Given the description of an element on the screen output the (x, y) to click on. 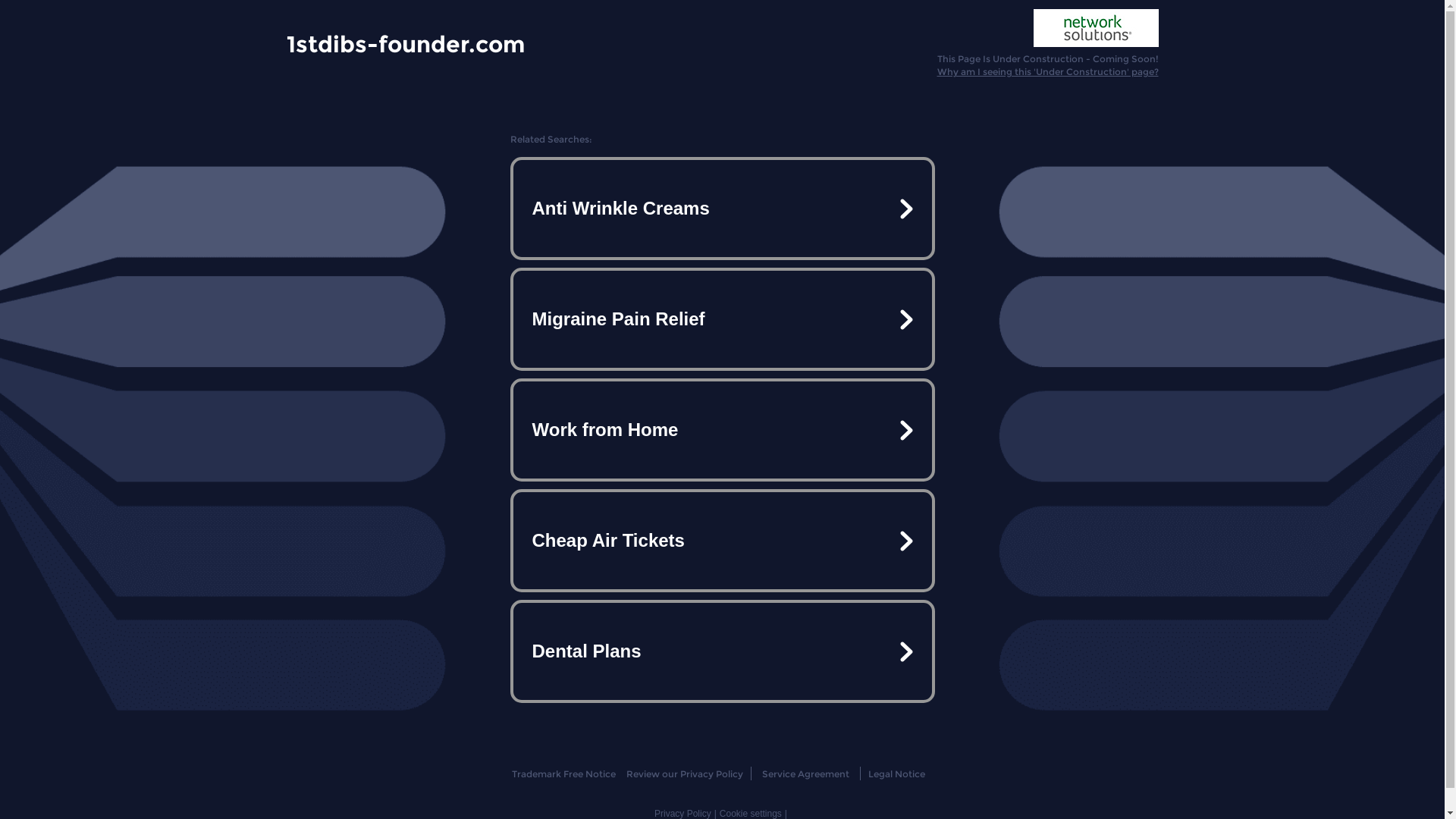
Work from Home Element type: text (721, 429)
Trademark Free Notice Element type: text (563, 773)
Legal Notice Element type: text (896, 773)
Cheap Air Tickets Element type: text (721, 540)
Review our Privacy Policy Element type: text (684, 773)
Why am I seeing this 'Under Construction' page? Element type: text (1047, 71)
1stdibs-founder.com Element type: text (405, 43)
Service Agreement Element type: text (805, 773)
Migraine Pain Relief Element type: text (721, 318)
Anti Wrinkle Creams Element type: text (721, 208)
Dental Plans Element type: text (721, 650)
